Given the description of an element on the screen output the (x, y) to click on. 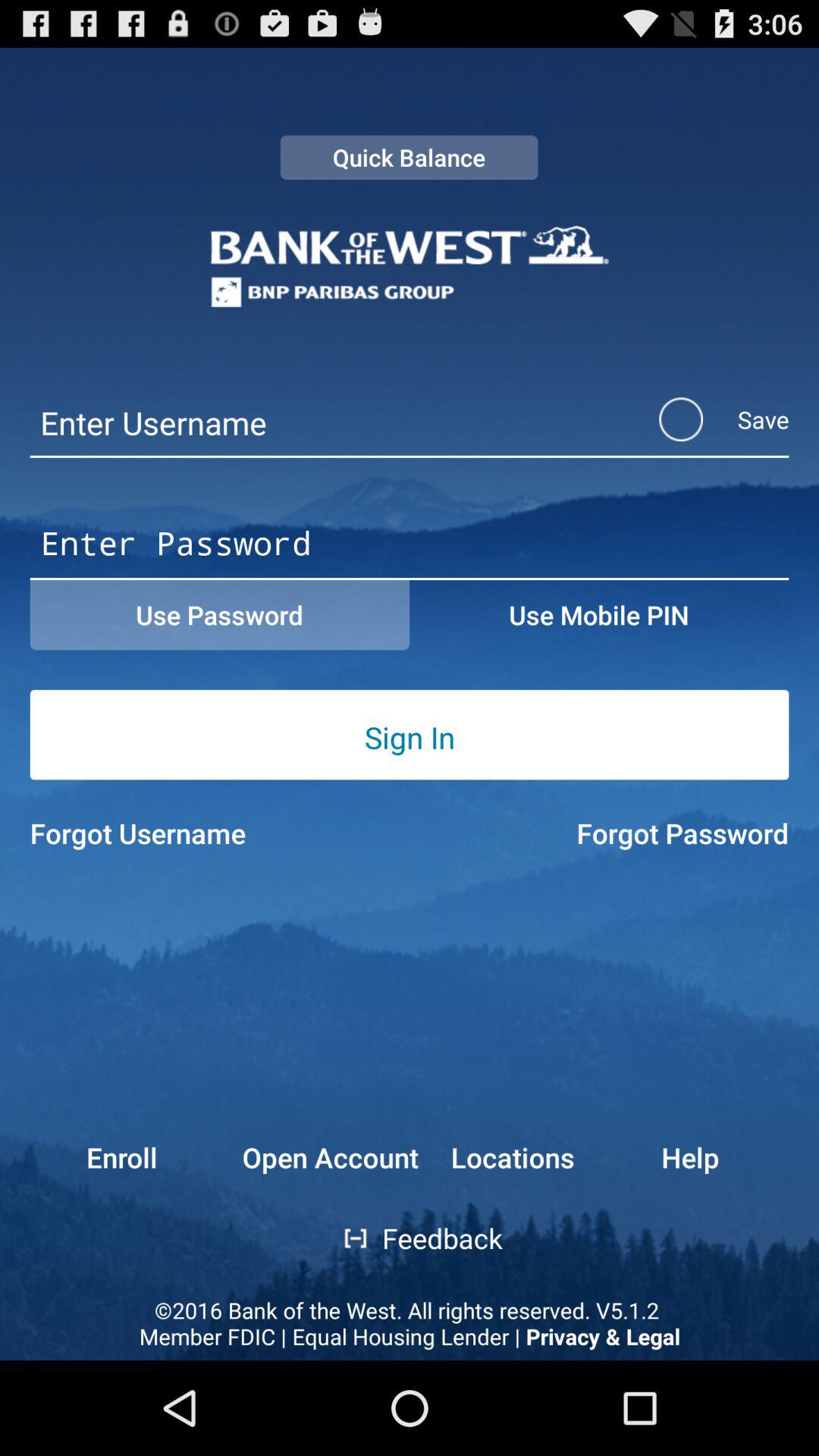
swipe until help button (724, 1157)
